Given the description of an element on the screen output the (x, y) to click on. 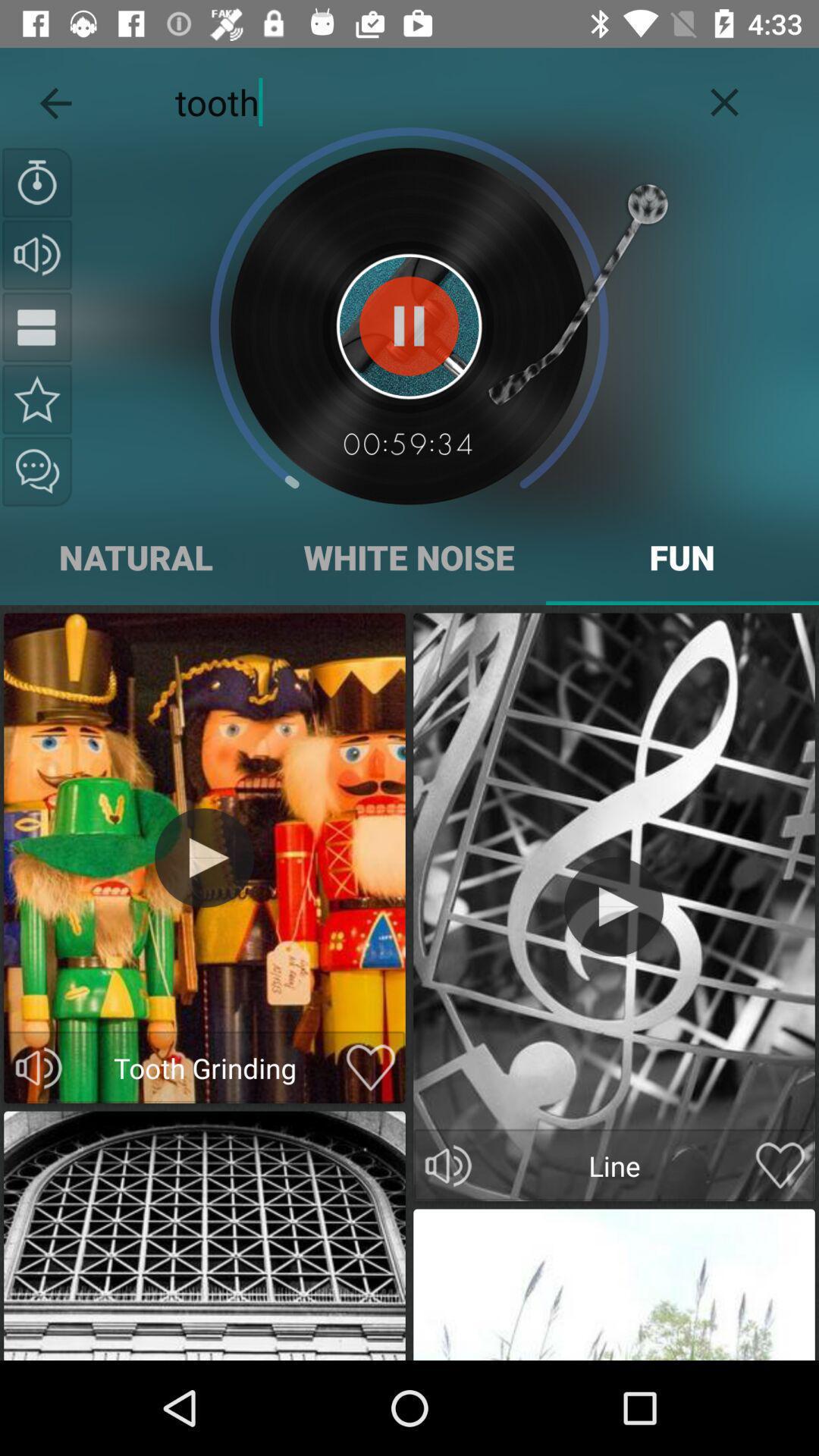
click to play (613, 906)
